Given the description of an element on the screen output the (x, y) to click on. 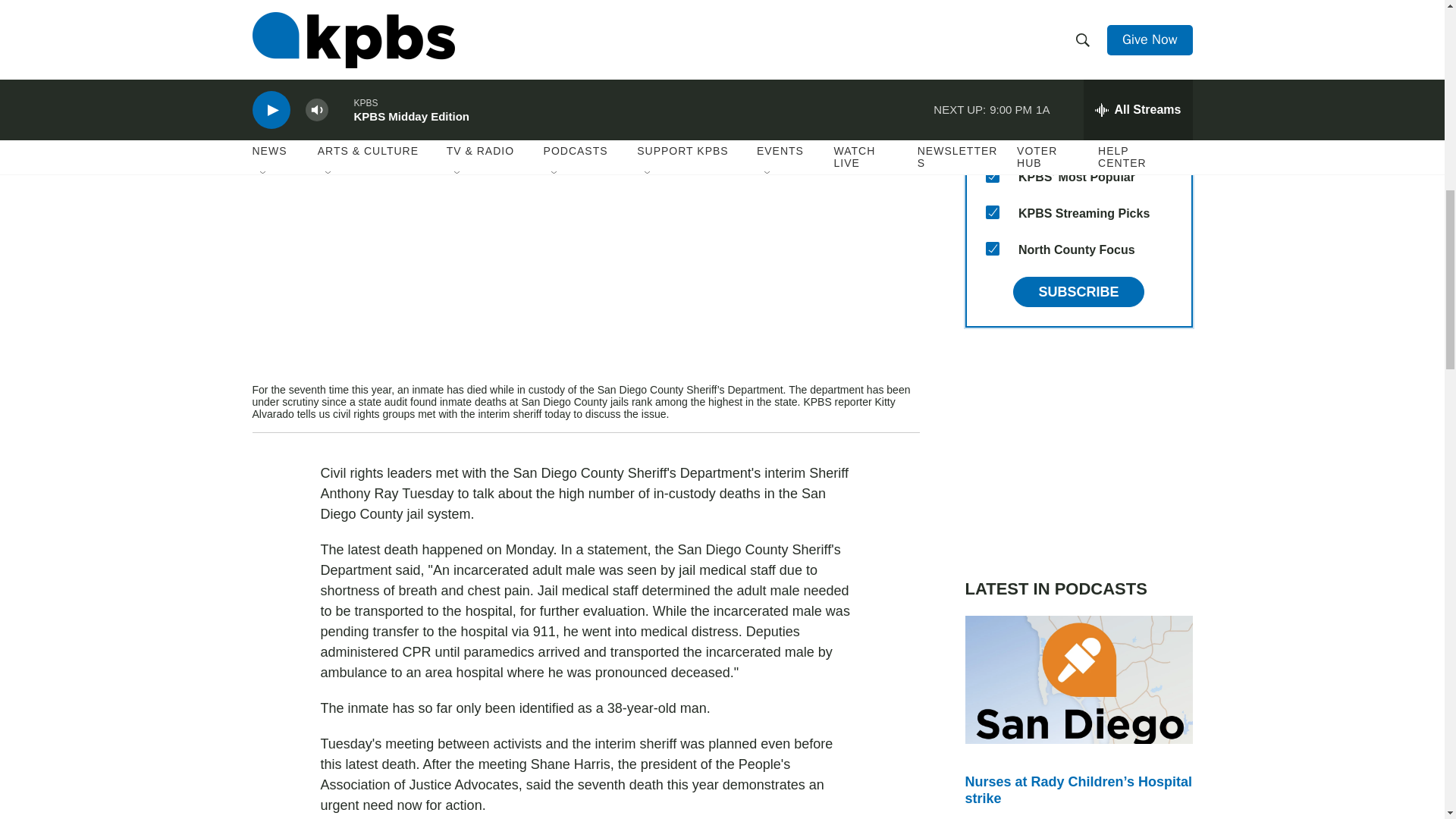
6 (991, 102)
4 (991, 29)
1 (991, 175)
15 (991, 248)
5 (991, 66)
2 (991, 139)
8 (991, 212)
